Given the description of an element on the screen output the (x, y) to click on. 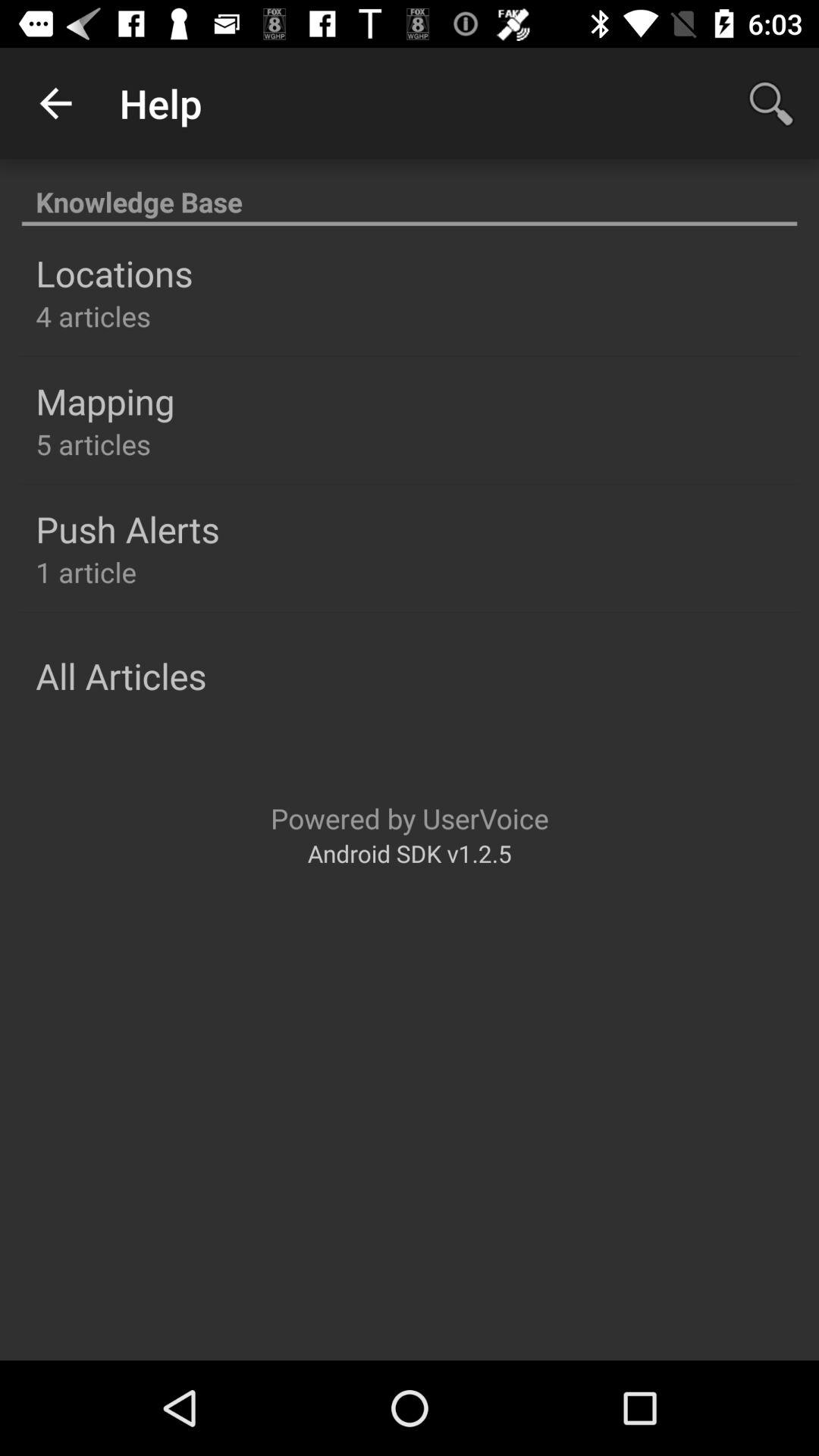
turn on the icon above knowledge base item (771, 103)
